Given the description of an element on the screen output the (x, y) to click on. 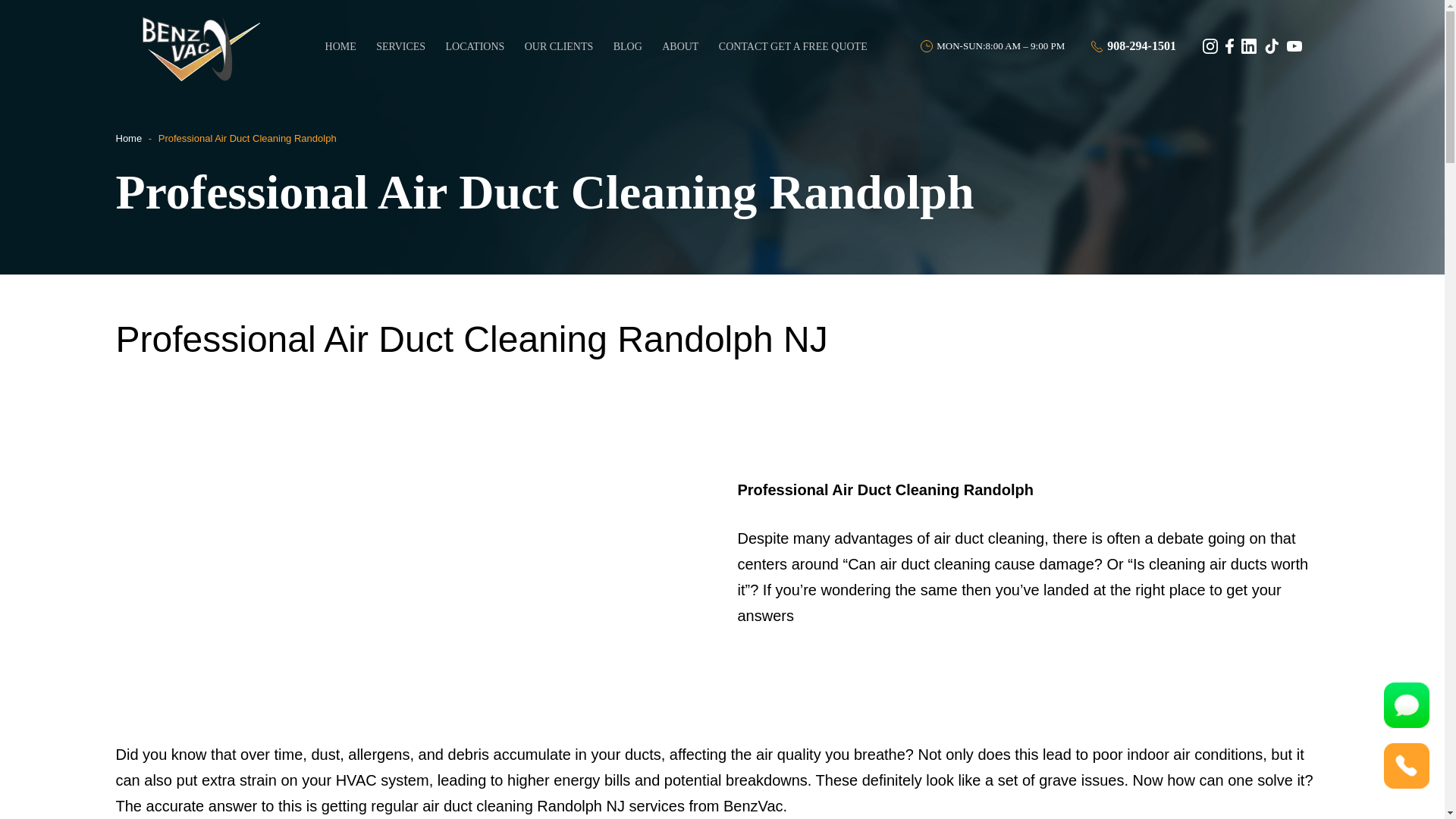
BLOG (628, 45)
SERVICES (400, 45)
LOCATIONS (474, 45)
OUR CLIENTS (557, 45)
CONTACT GET A FREE QUOTE (793, 45)
908-294-1501 (1133, 46)
HOME (340, 45)
ABOUT (680, 45)
